Given the description of an element on the screen output the (x, y) to click on. 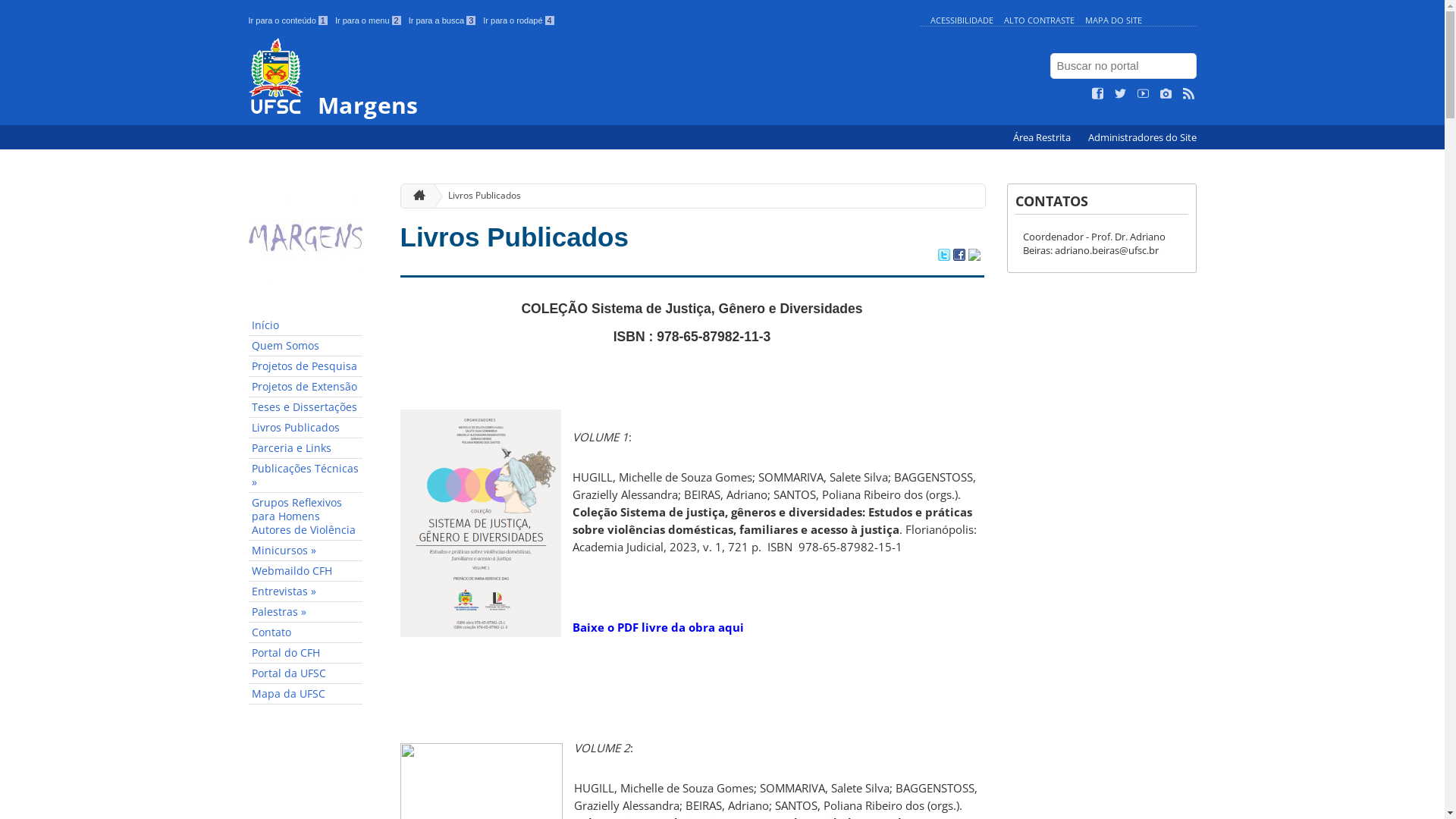
Ir para a busca 3 Element type: text (442, 20)
Livros Publicados Element type: text (514, 236)
Veja no Instagram Element type: hover (1166, 93)
Ir para o menu 2 Element type: text (368, 20)
MAPA DO SITE Element type: text (1112, 19)
Parceria e Links Element type: text (305, 448)
ACESSIBILIDADE Element type: text (960, 19)
Siga no Twitter Element type: hover (1120, 93)
Compartilhar no Twitter Element type: hover (943, 255)
Portal da UFSC Element type: text (305, 673)
Portal do CFH Element type: text (305, 653)
Compartilhar no Facebook Element type: hover (958, 255)
Livros Publicados Element type: text (305, 427)
Livros Publicados Element type: text (478, 195)
Projetos de Pesquisa Element type: text (305, 366)
Compartilhar no WhatsApp Element type: hover (973, 255)
ALTO CONTRASTE Element type: text (1039, 19)
Contato Element type: text (305, 632)
Quem Somos Element type: text (305, 345)
Mapa da UFSC Element type: text (305, 694)
Administradores do Site Element type: text (1141, 137)
Baixe o PDF livre da obra aqui Element type: text (657, 626)
Margens Element type: text (580, 77)
Webmaildo CFH Element type: text (305, 571)
Curta no Facebook Element type: hover (1098, 93)
